Given the description of an element on the screen output the (x, y) to click on. 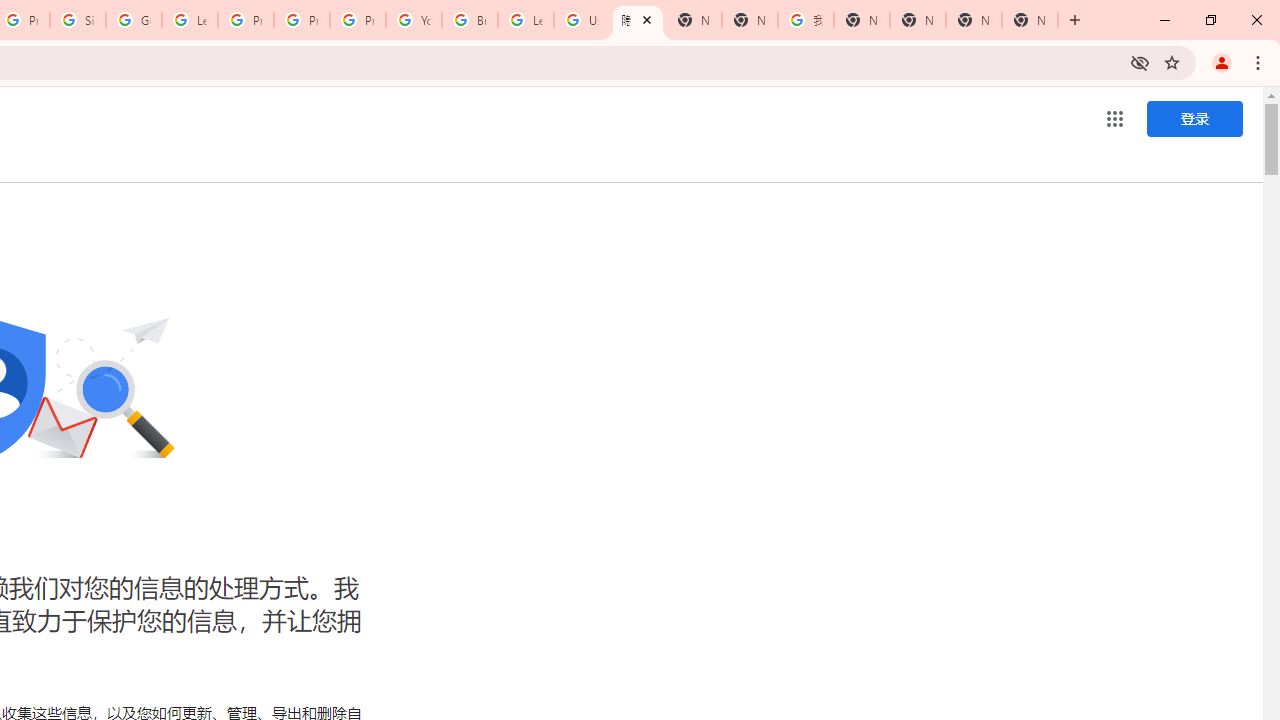
New Tab (693, 20)
